Given the description of an element on the screen output the (x, y) to click on. 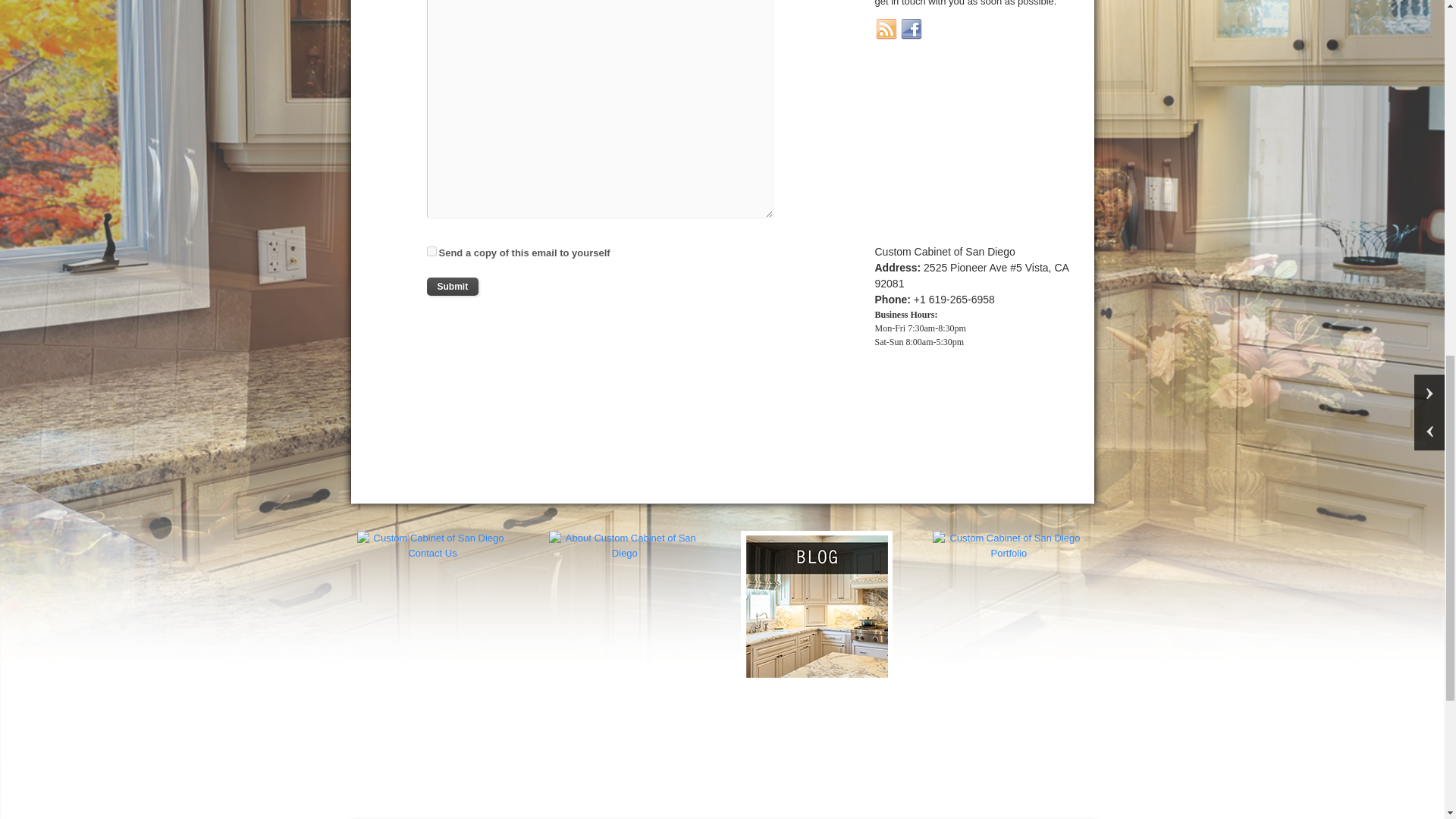
Submit (452, 286)
Submit (452, 286)
RSS (886, 29)
true (430, 251)
